Given the description of an element on the screen output the (x, y) to click on. 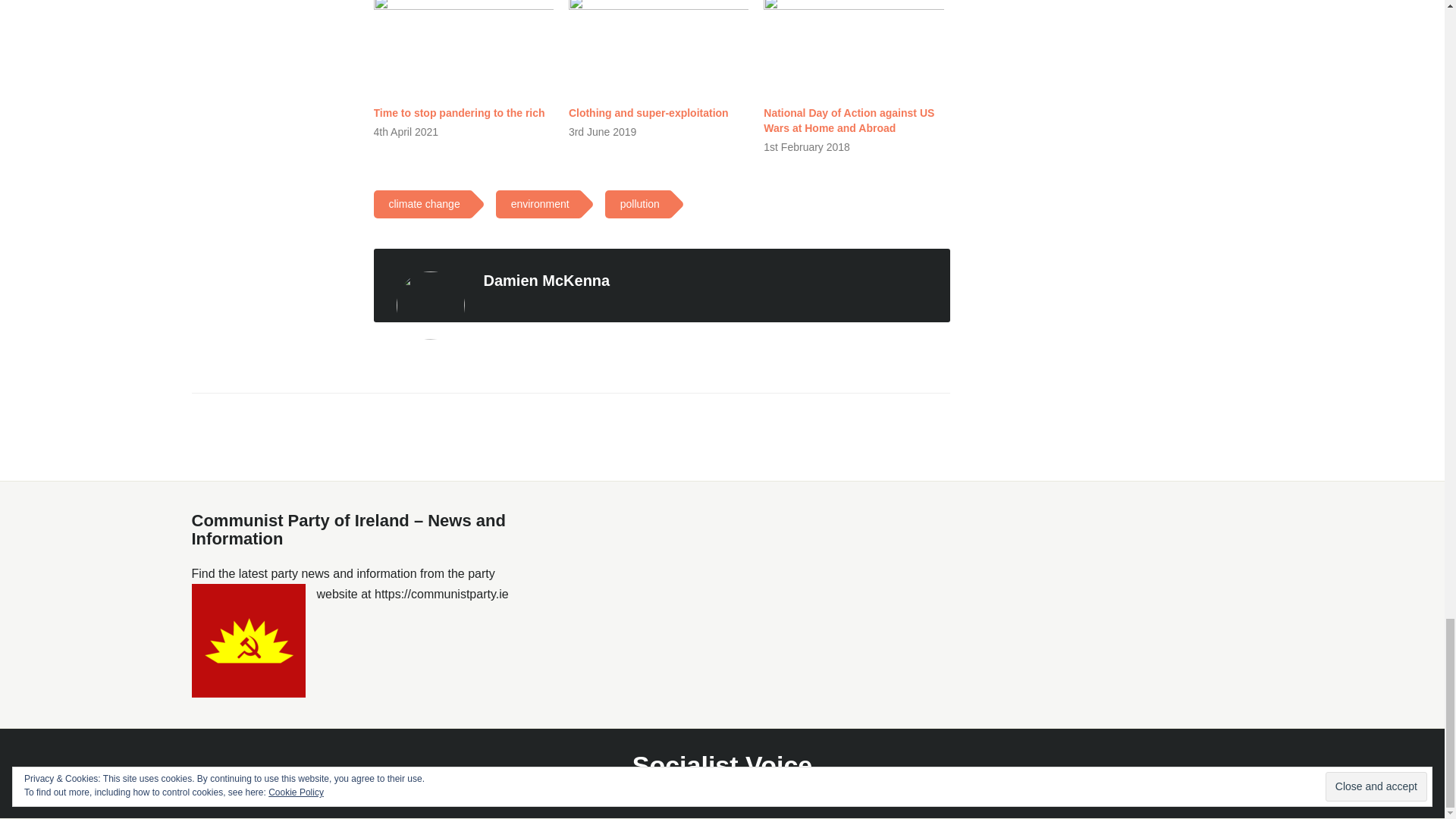
Time to stop pandering to the rich (462, 48)
Time to stop pandering to the rich (458, 112)
